Given the description of an element on the screen output the (x, y) to click on. 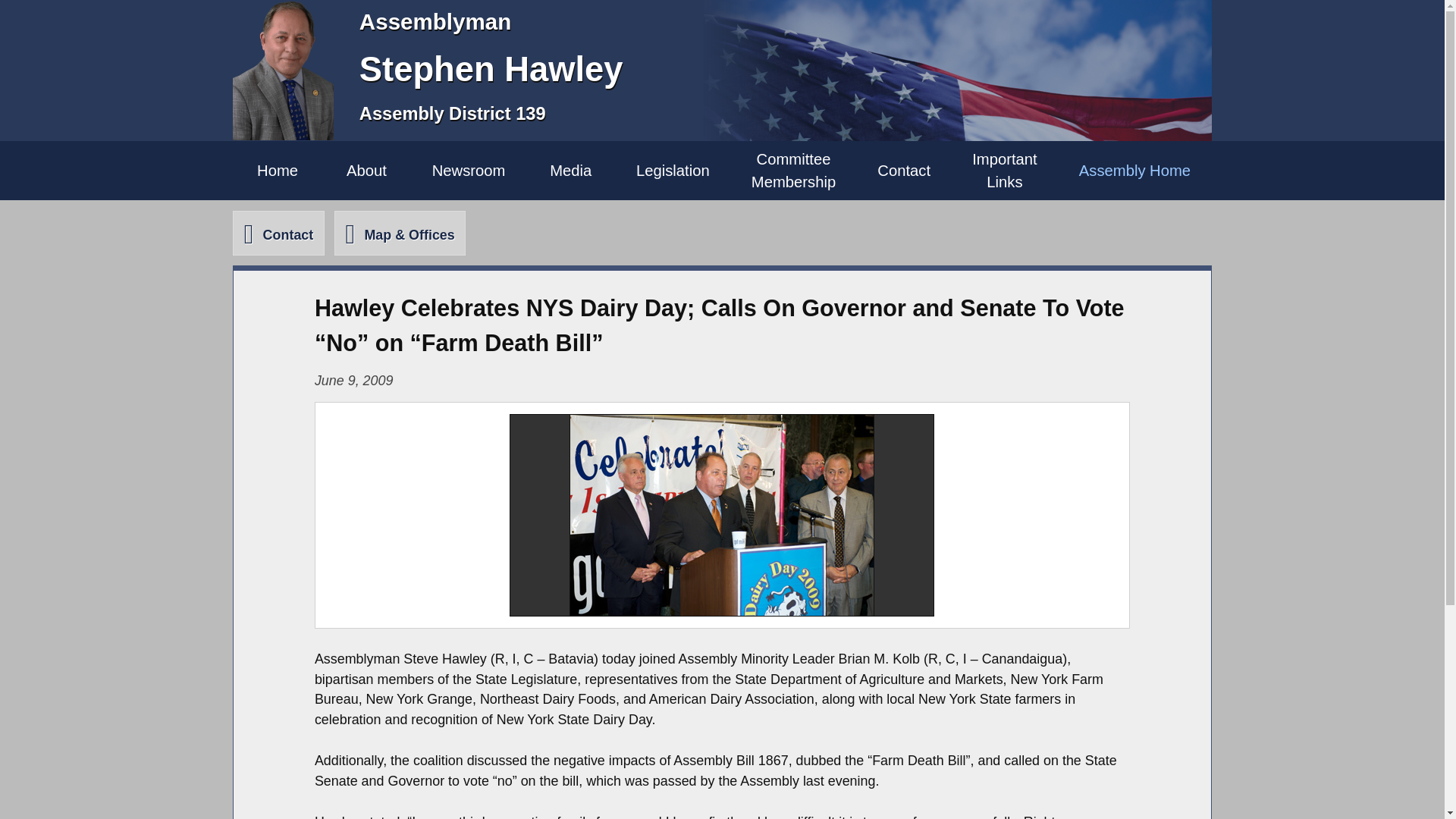
Newsroom (467, 169)
Contact (1005, 169)
Legislation (904, 169)
About (672, 169)
Home (793, 169)
Assembly Home (365, 169)
Contact (276, 169)
Media (1134, 169)
